Given the description of an element on the screen output the (x, y) to click on. 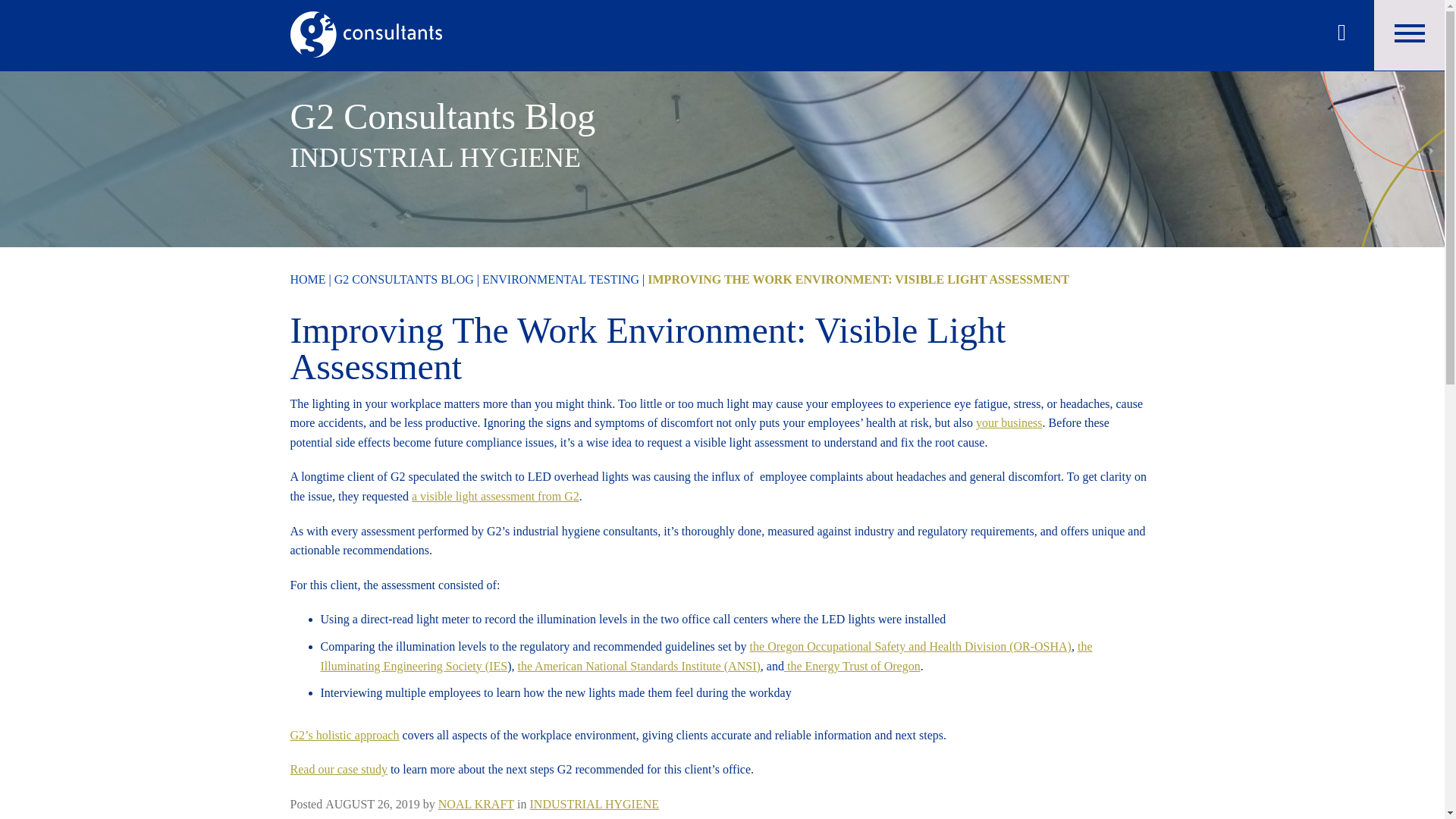
your business (1008, 422)
HOME (306, 278)
ENVIRONMENTAL TESTING (560, 278)
G2 CONSULTANTS BLOG (404, 278)
Posts by Noal Kraft (475, 803)
G2 Consultants (365, 63)
